Given the description of an element on the screen output the (x, y) to click on. 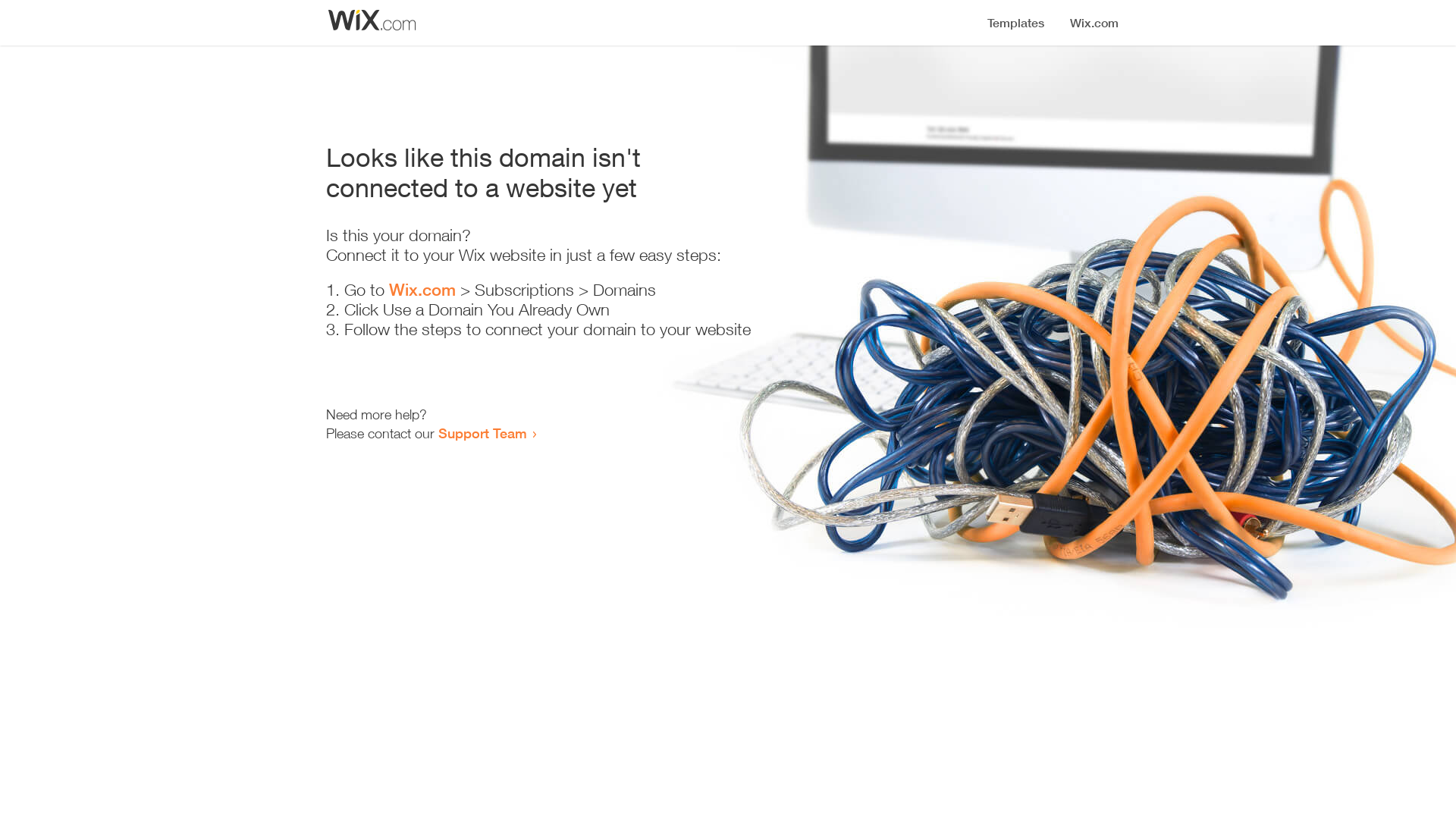
Support Team Element type: text (482, 432)
Wix.com Element type: text (422, 289)
